Given the description of an element on the screen output the (x, y) to click on. 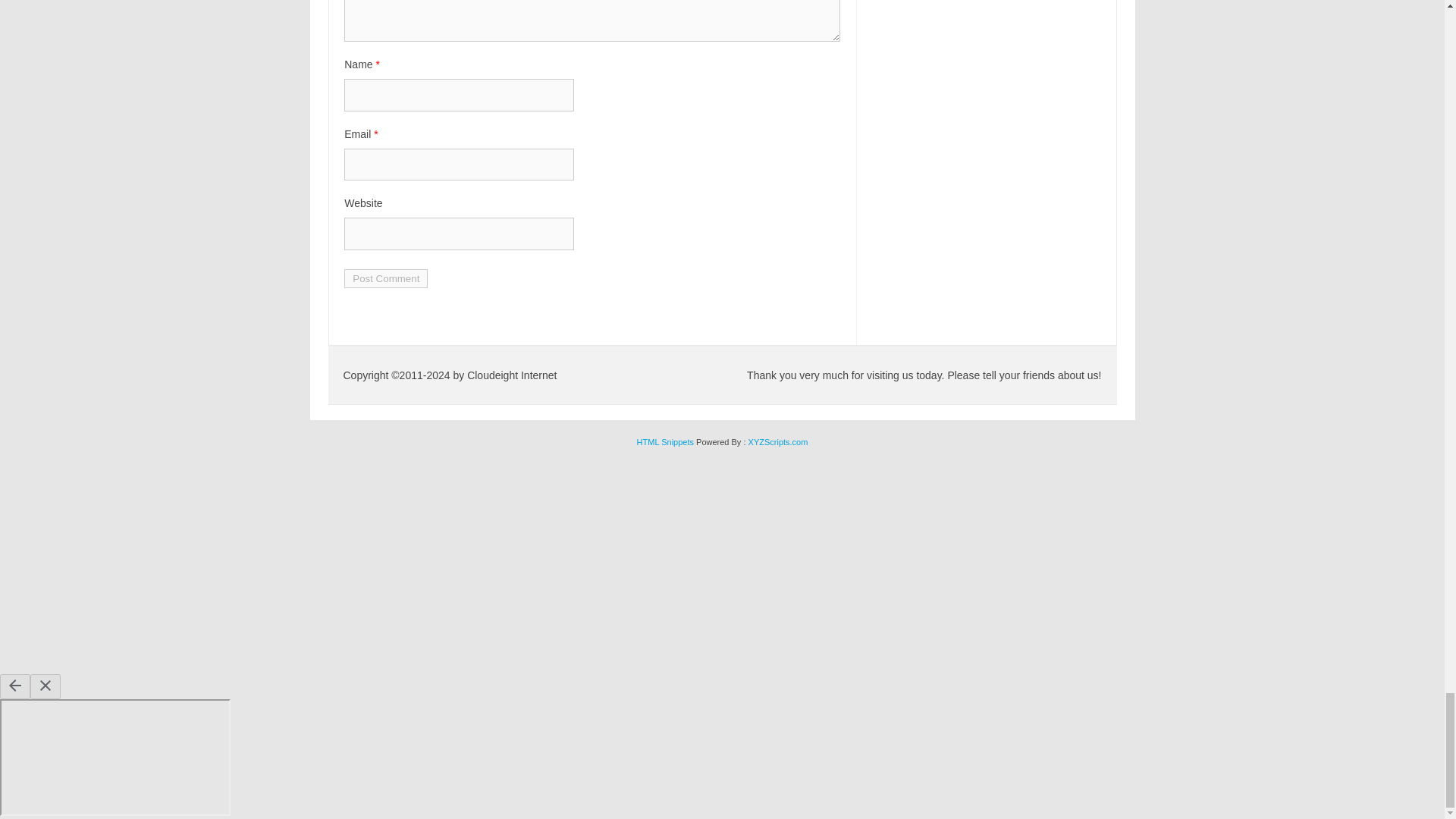
Post Comment (385, 278)
Post Comment (385, 278)
Insert HTML Snippet Wordpress Plugin (665, 441)
